Given the description of an element on the screen output the (x, y) to click on. 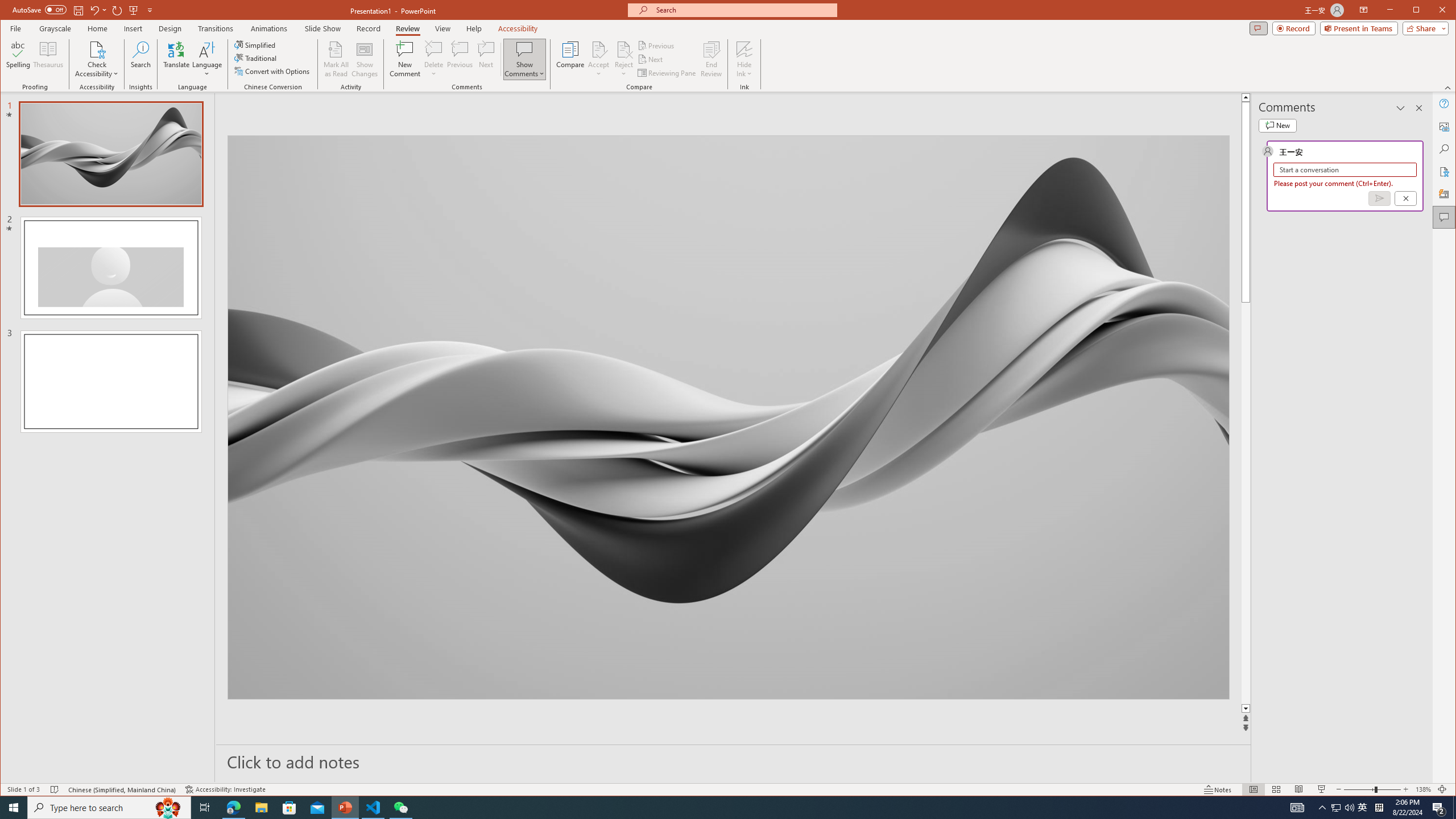
Reject (623, 59)
Accept (598, 59)
